Given the description of an element on the screen output the (x, y) to click on. 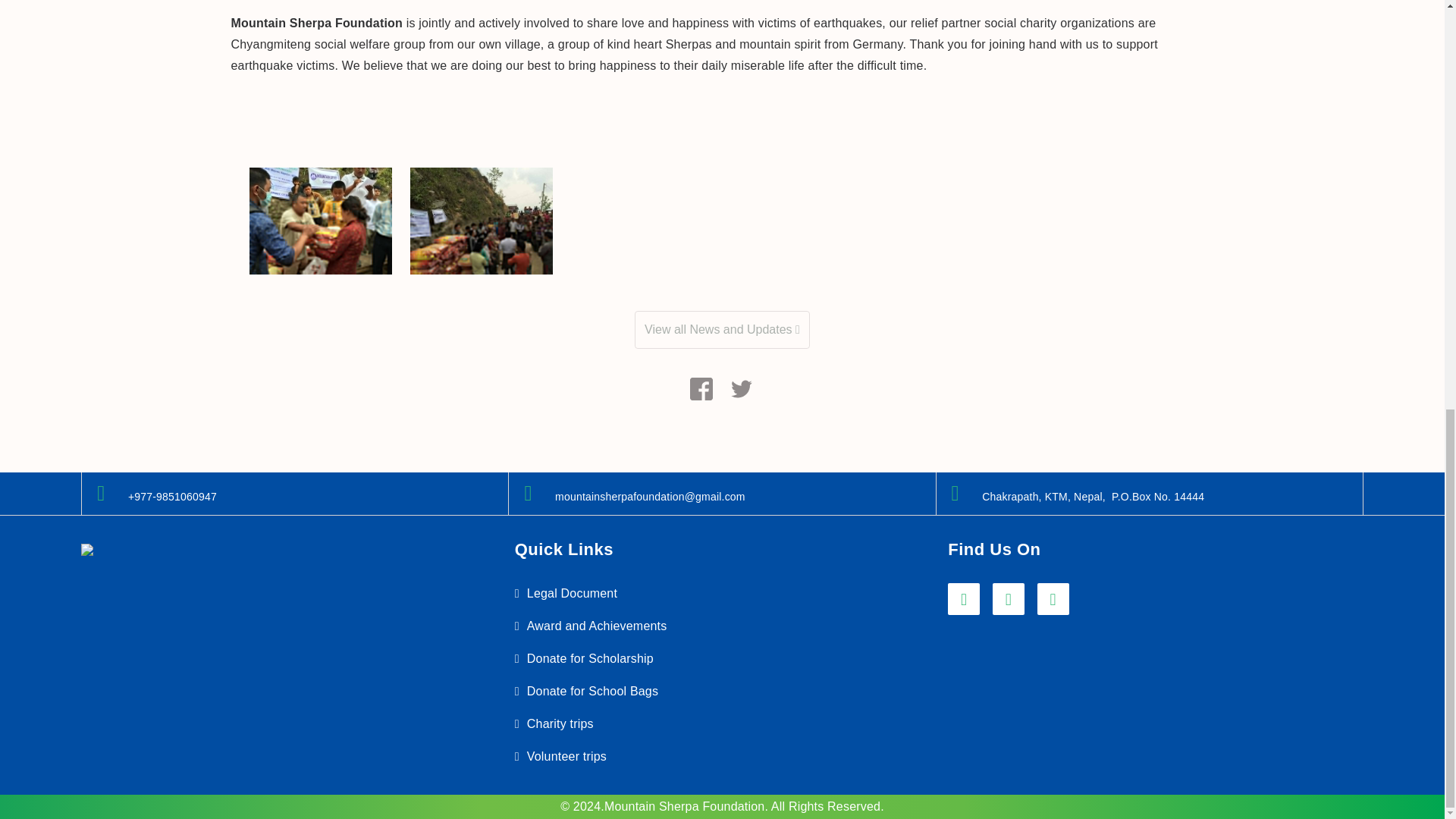
Donate for Scholarship (590, 658)
View all News and Updates (721, 329)
View all News and Updates (721, 328)
Award and Achievements (596, 625)
Donate for School Bags (592, 690)
Legal Document (572, 593)
Charity trips (560, 723)
Volunteer trips (567, 756)
